Given the description of an element on the screen output the (x, y) to click on. 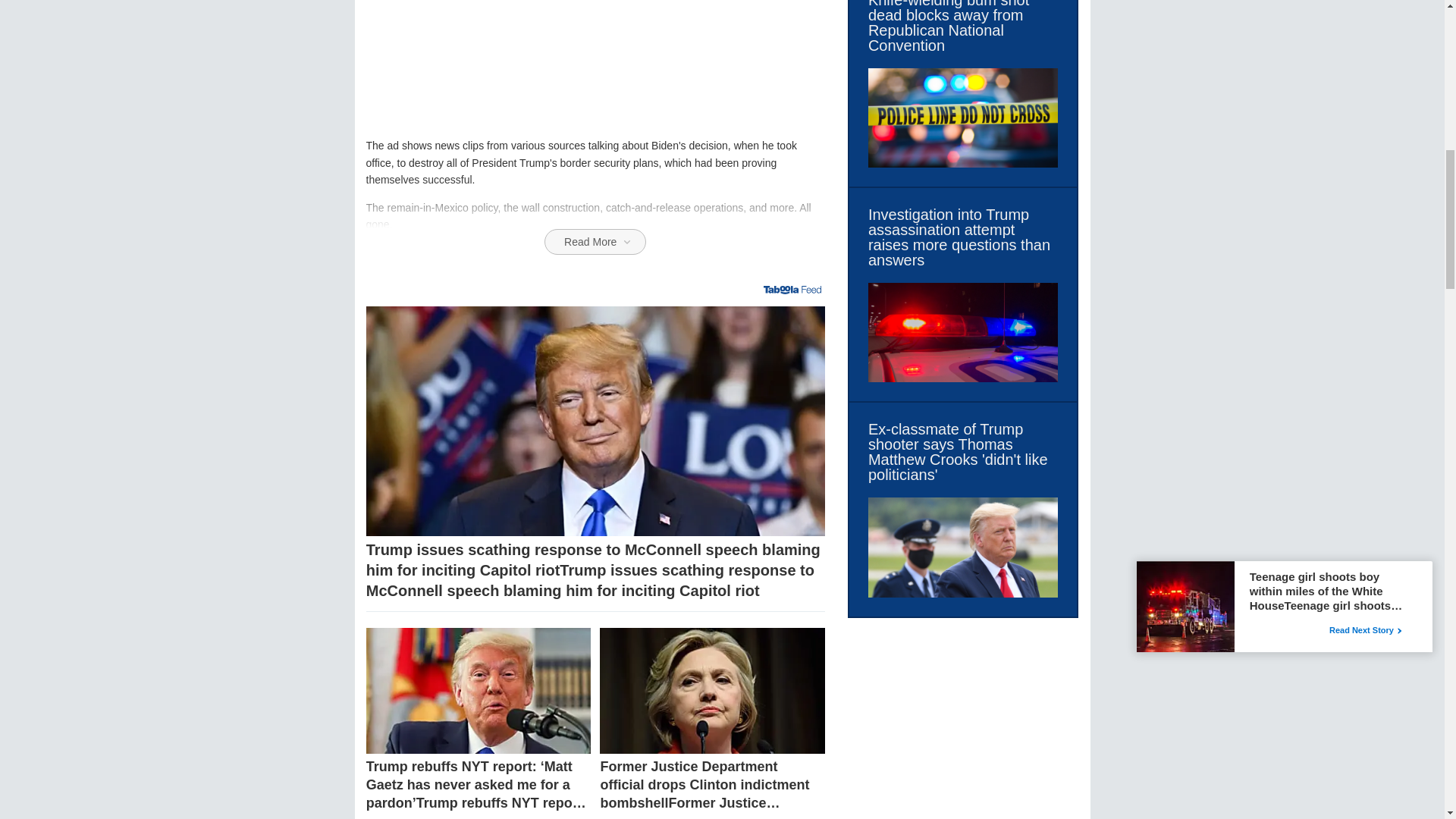
X Post (595, 65)
Read More (595, 241)
